Given the description of an element on the screen output the (x, y) to click on. 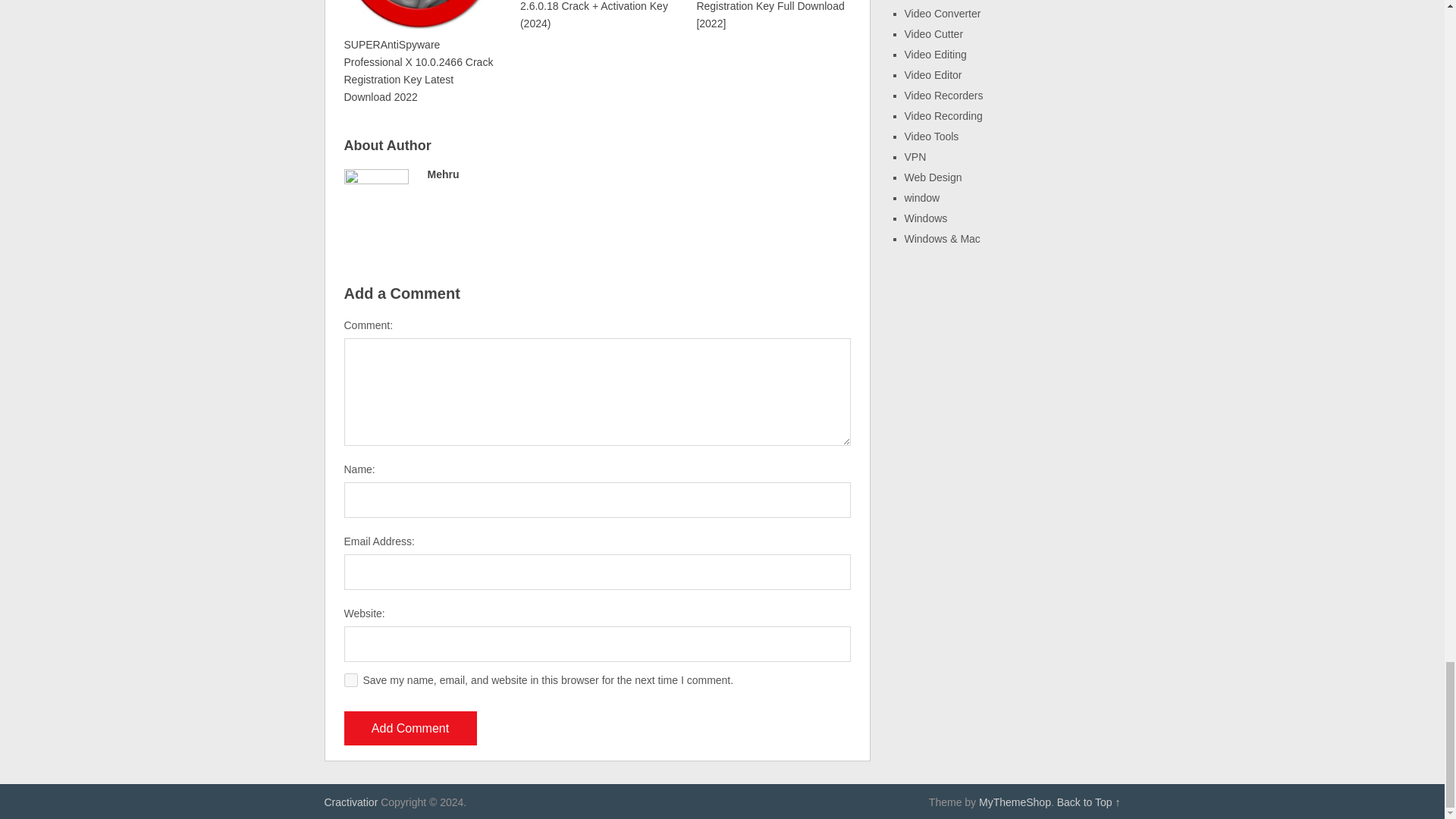
yes (350, 680)
Add Comment (410, 728)
